Given the description of an element on the screen output the (x, y) to click on. 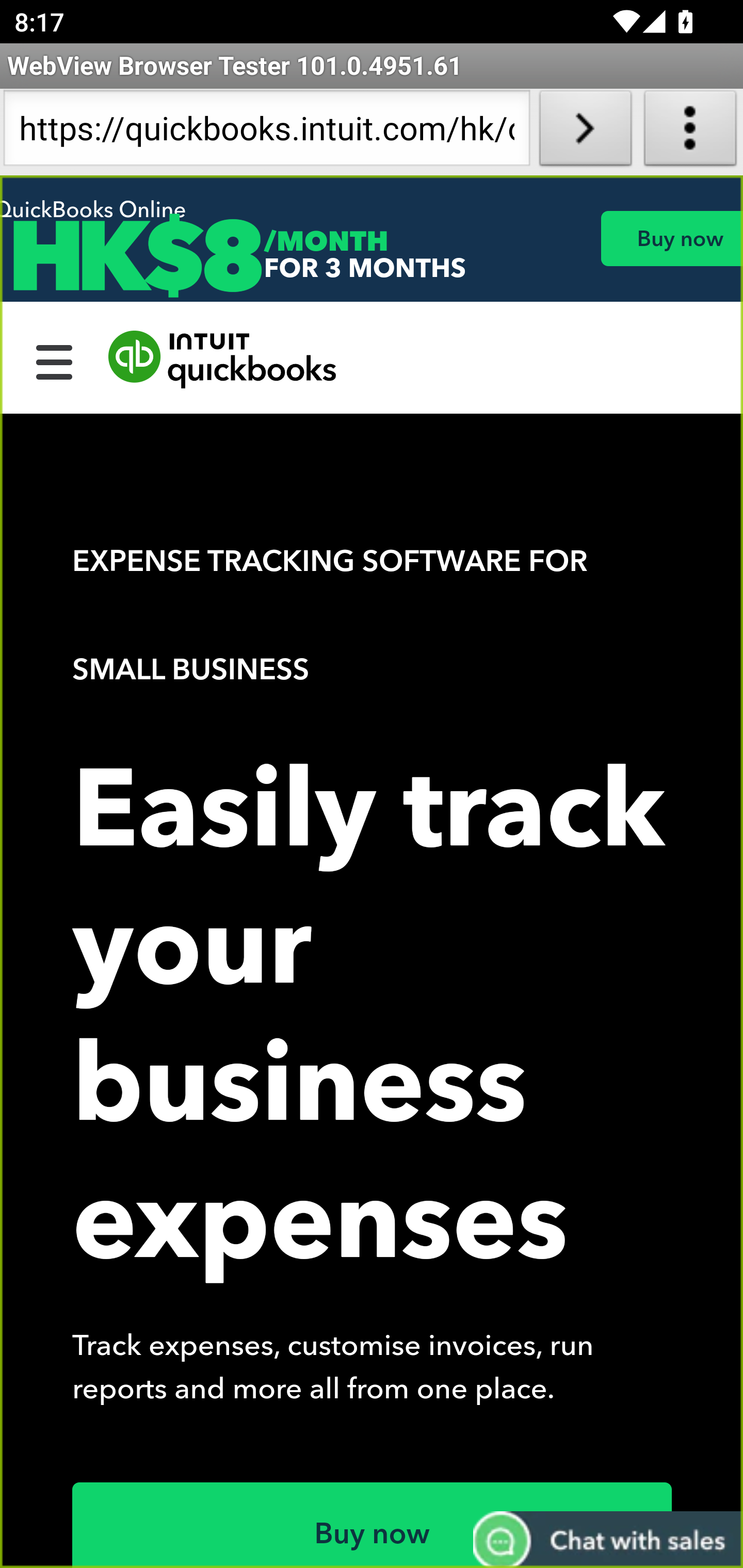
Load URL (585, 132)
About WebView (690, 132)
Buy now (671, 238)
quickbooks-mobile-burger (54, 359)
quickbooks (222, 359)
Buy now (372, 1524)
